Given the description of an element on the screen output the (x, y) to click on. 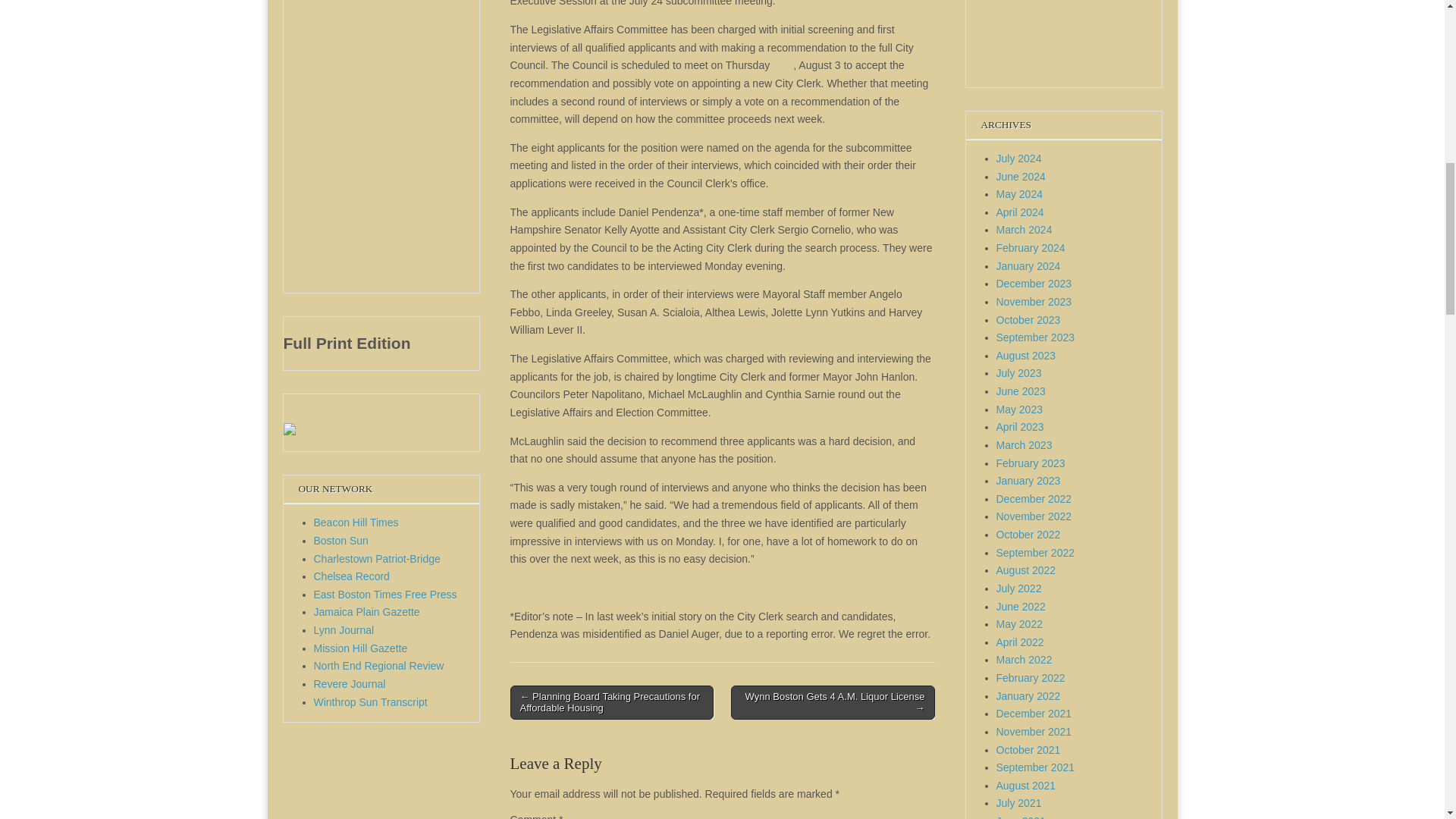
Chelsea Record (352, 576)
Charlestown Patriot-Bridge (377, 558)
Jamaica Plain Gazette (367, 612)
Boston Sun (341, 540)
Lynn Journal (344, 630)
East Boston Times Free Press (385, 594)
Beacon Hill Times (356, 522)
